Given the description of an element on the screen output the (x, y) to click on. 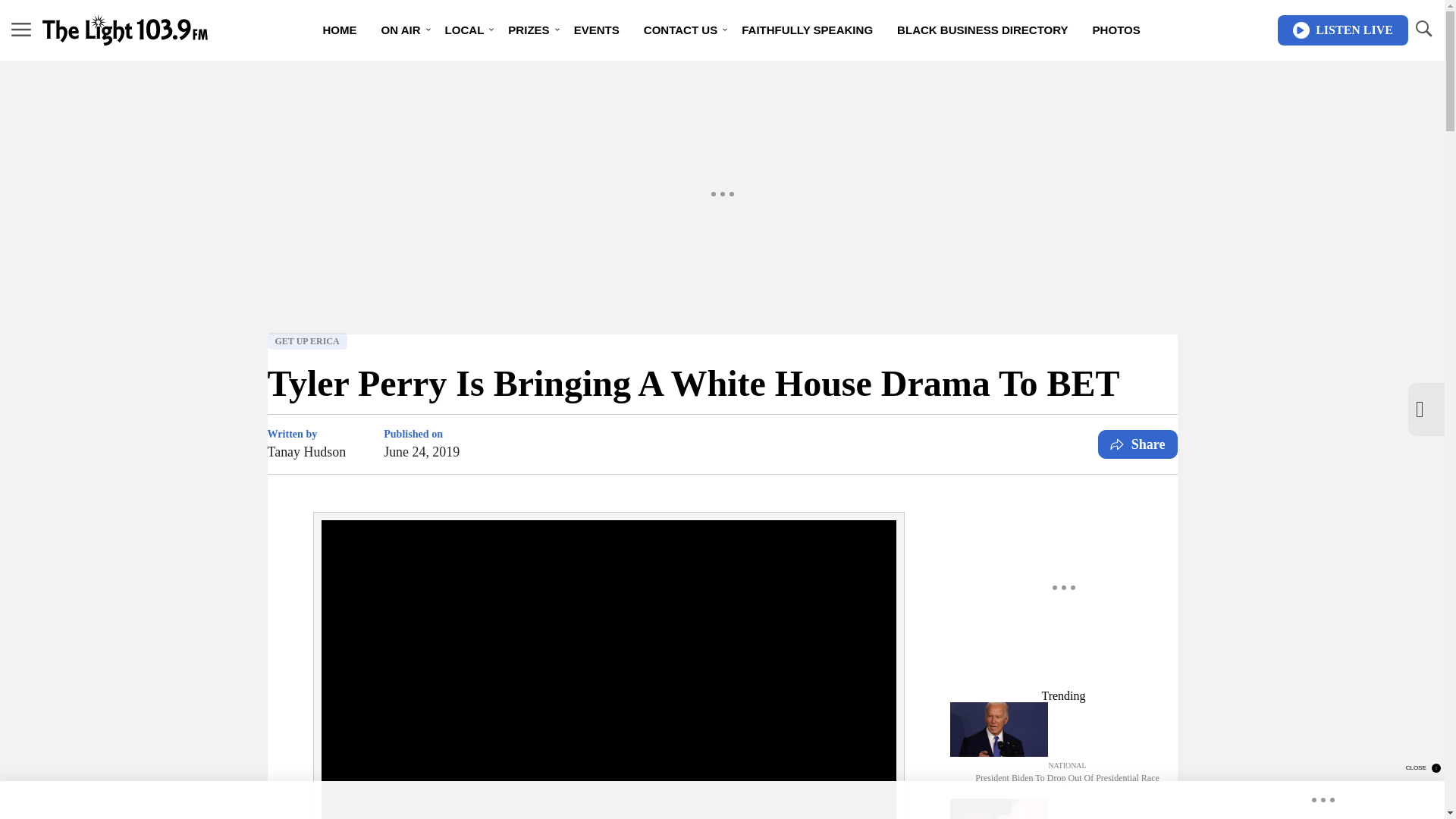
PHOTOS (1116, 30)
Tanay Hudson (306, 451)
TOGGLE SEARCH (1422, 28)
CONTACT US (680, 30)
HOME (339, 30)
LOCAL (464, 30)
PRIZES (528, 30)
FAITHFULLY SPEAKING (807, 30)
BLACK BUSINESS DIRECTORY (982, 30)
MENU (20, 30)
Share (1137, 443)
MENU (20, 29)
EVENTS (596, 30)
LISTEN LIVE (1342, 30)
TOGGLE SEARCH (1422, 30)
